Given the description of an element on the screen output the (x, y) to click on. 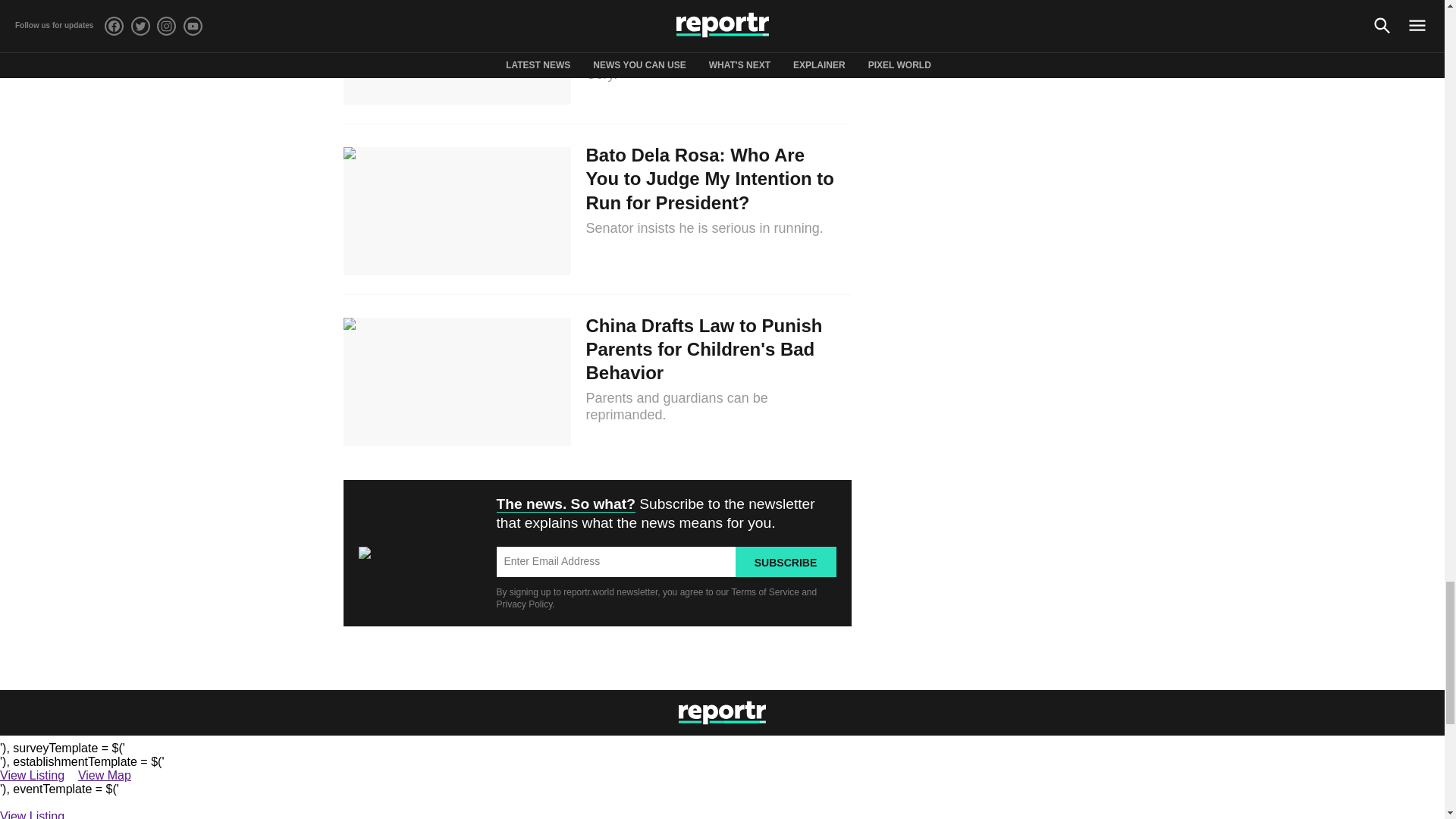
Subscribe (785, 562)
